Given the description of an element on the screen output the (x, y) to click on. 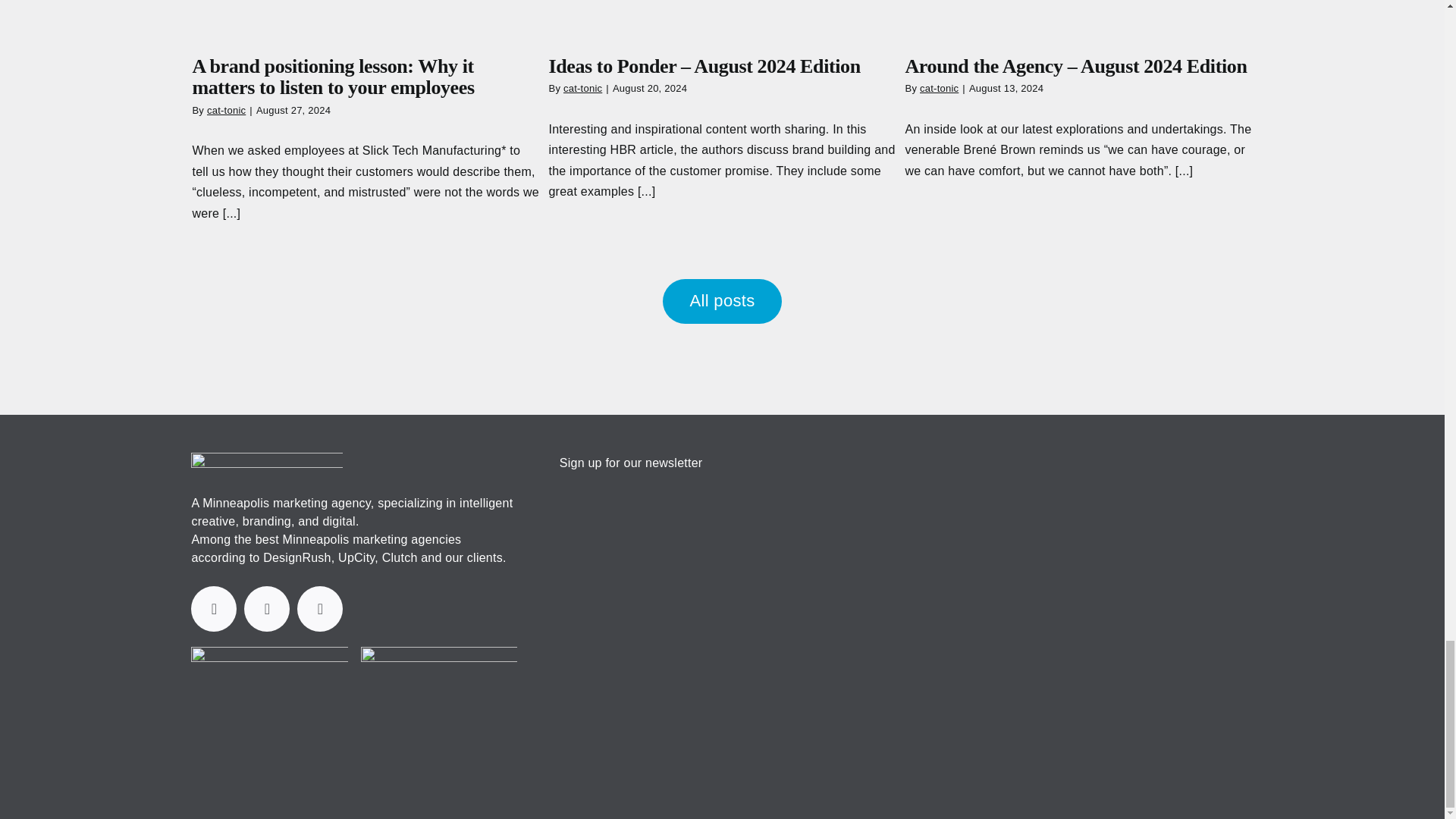
cat-tonic (226, 110)
cat-tonic (582, 88)
Instagram (319, 608)
Posts by cat-tonic (226, 110)
All posts (721, 300)
Posts by cat-tonic (582, 88)
LinkedIn (212, 608)
Facebook (266, 608)
cat-tonic (939, 88)
